Given the description of an element on the screen output the (x, y) to click on. 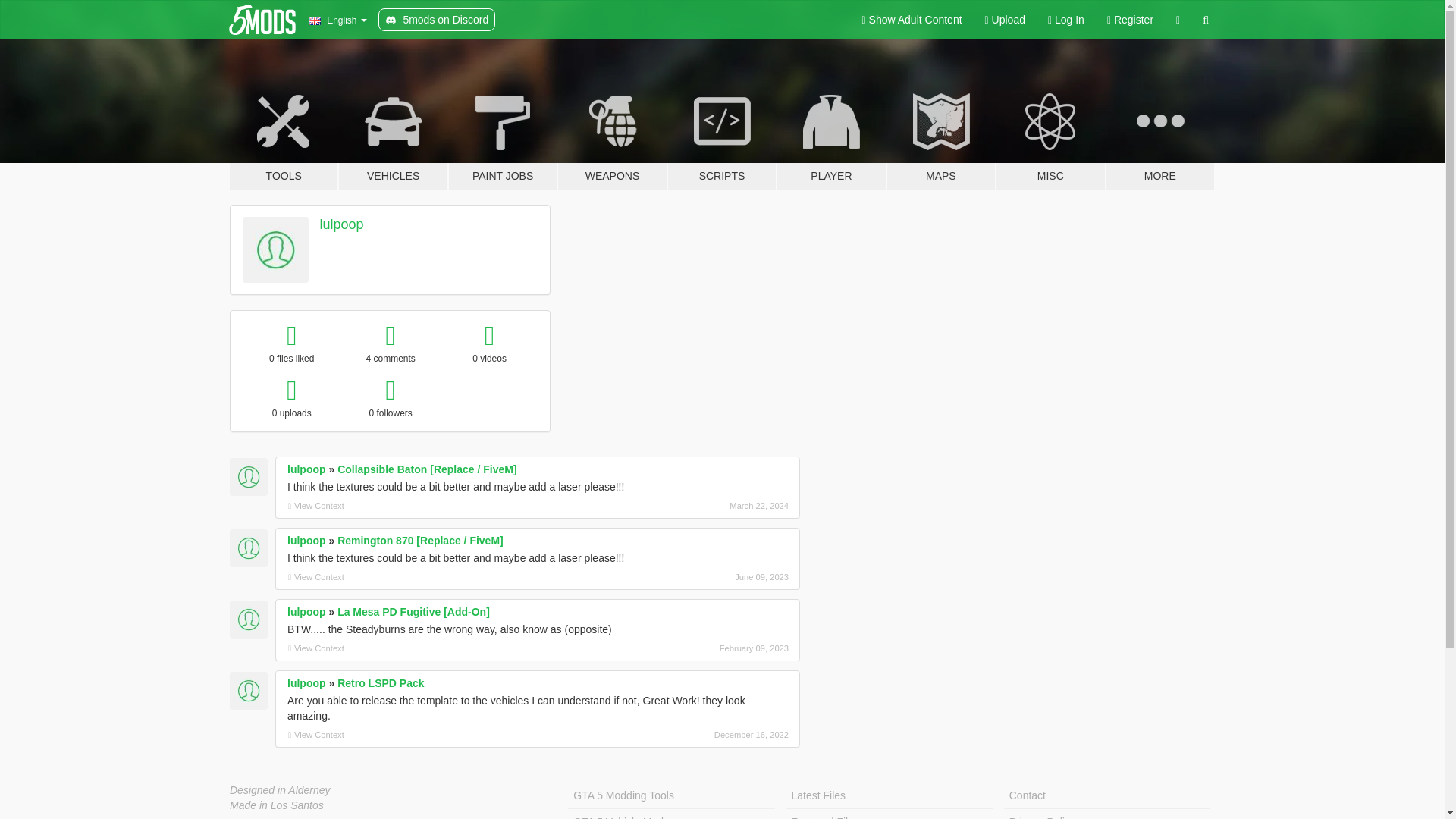
5mods on Discord (436, 19)
  English (337, 19)
Show Adult Content (912, 19)
Upload (1005, 19)
Log In (1066, 19)
Light mode (912, 19)
Register (1130, 19)
